Given the description of an element on the screen output the (x, y) to click on. 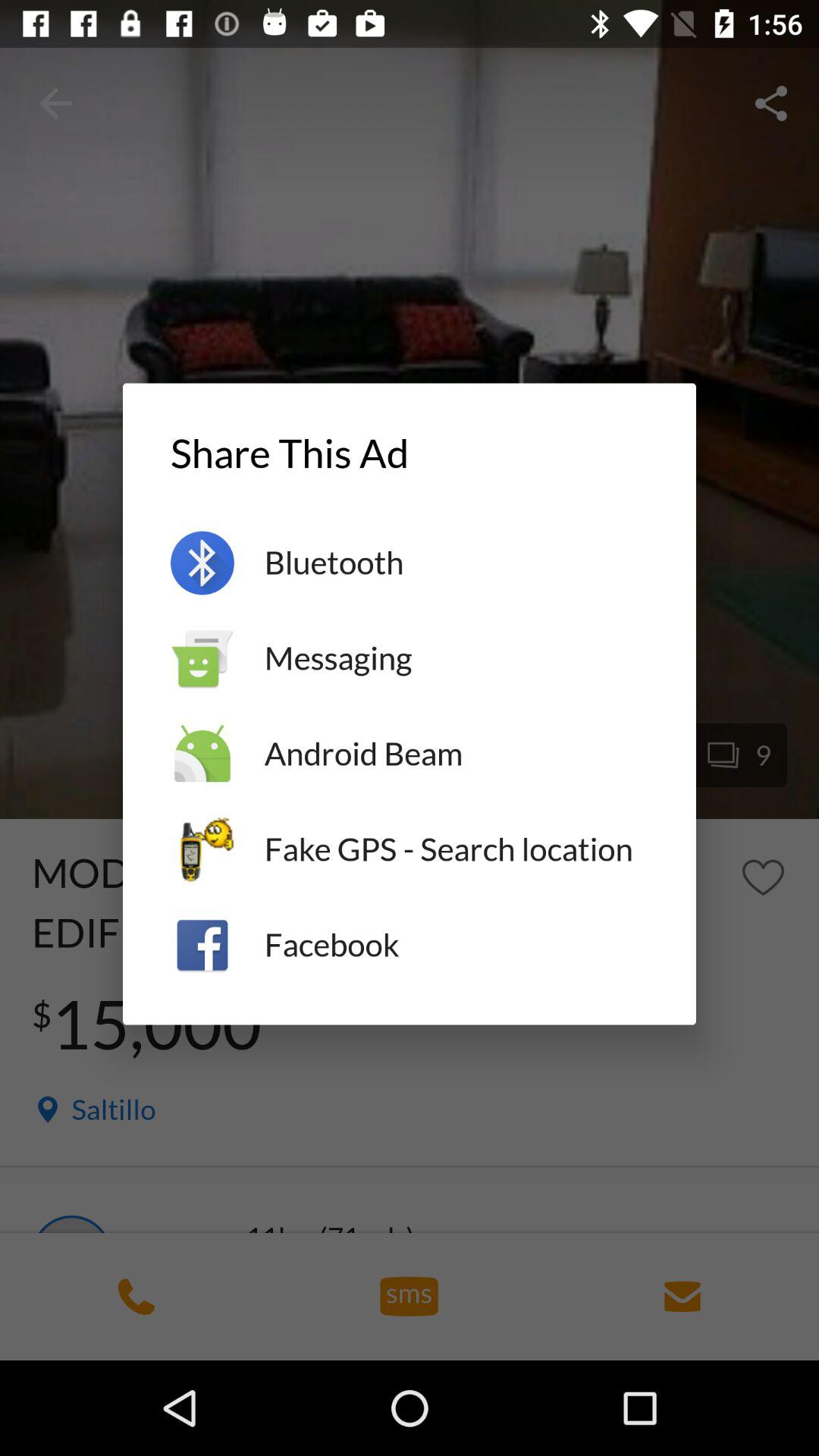
select item below fake gps search item (456, 944)
